Given the description of an element on the screen output the (x, y) to click on. 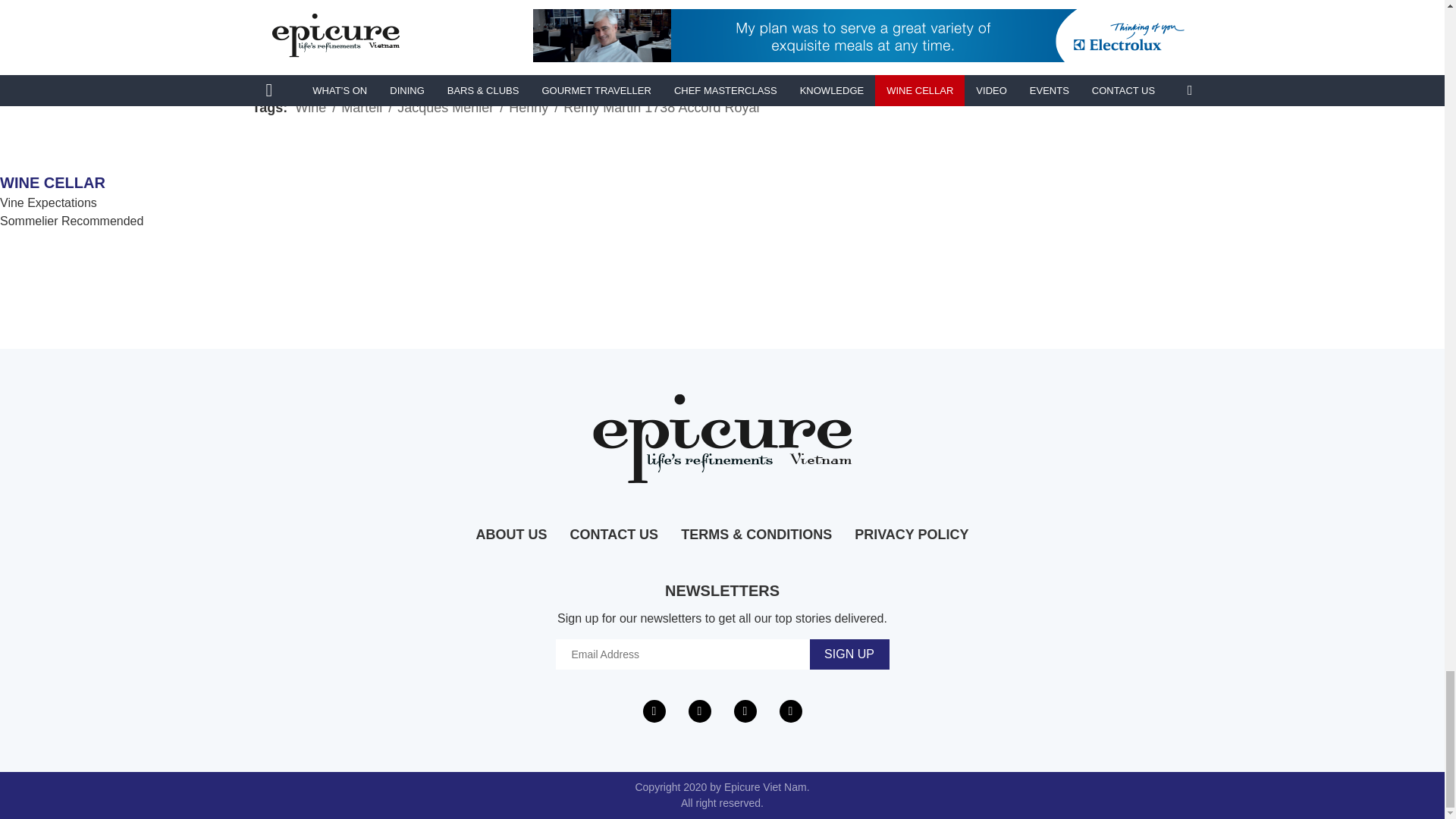
Wine (310, 107)
